Given the description of an element on the screen output the (x, y) to click on. 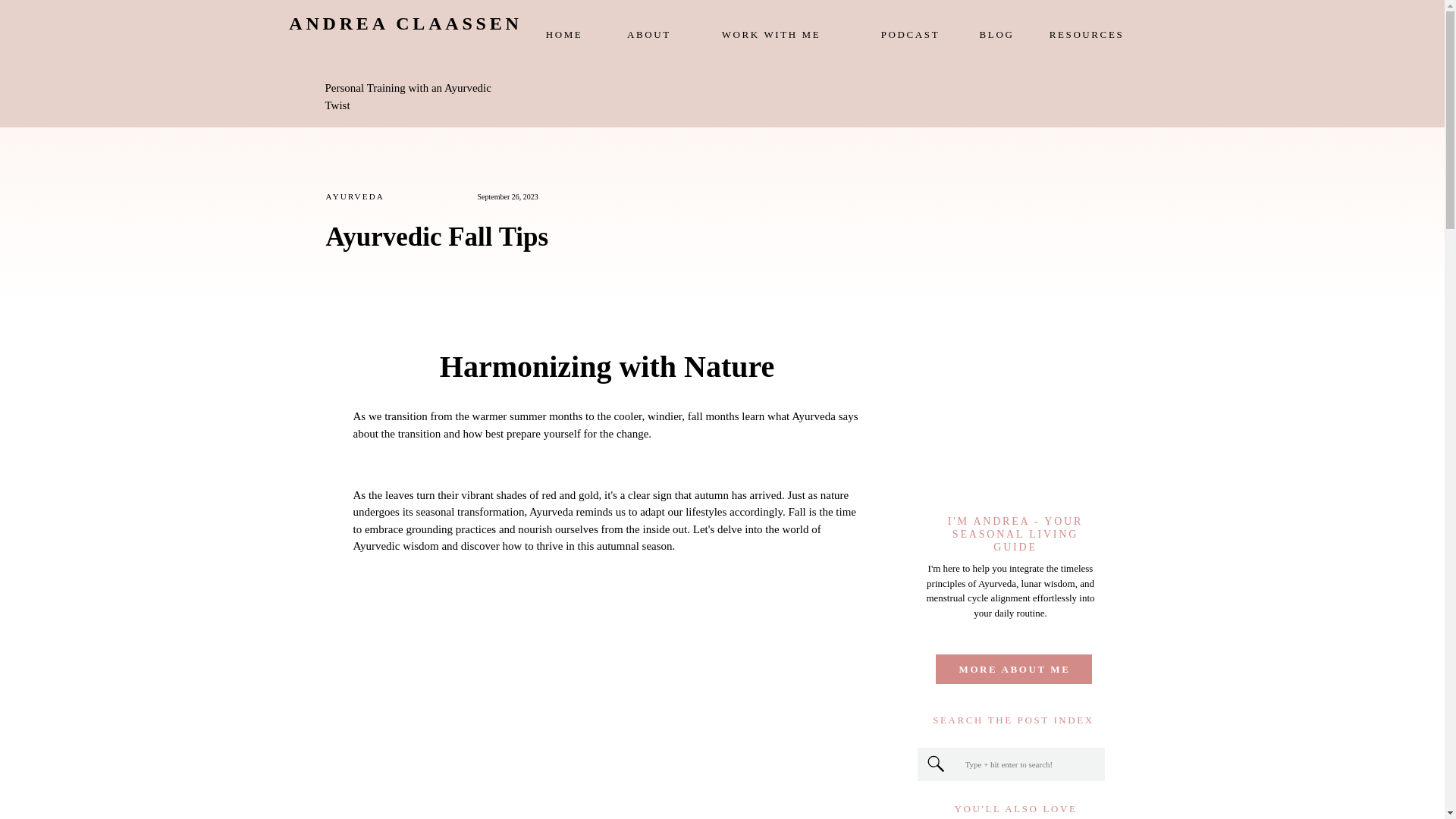
MORE ABOUT ME (1014, 668)
RESOURCES (1087, 35)
BLOG (996, 35)
HOME (564, 35)
ABOUT (648, 35)
ANDREA CLAASSEN (406, 33)
WORK WITH ME (770, 35)
PODCAST (910, 35)
AYURVEDA (355, 195)
